Given the description of an element on the screen output the (x, y) to click on. 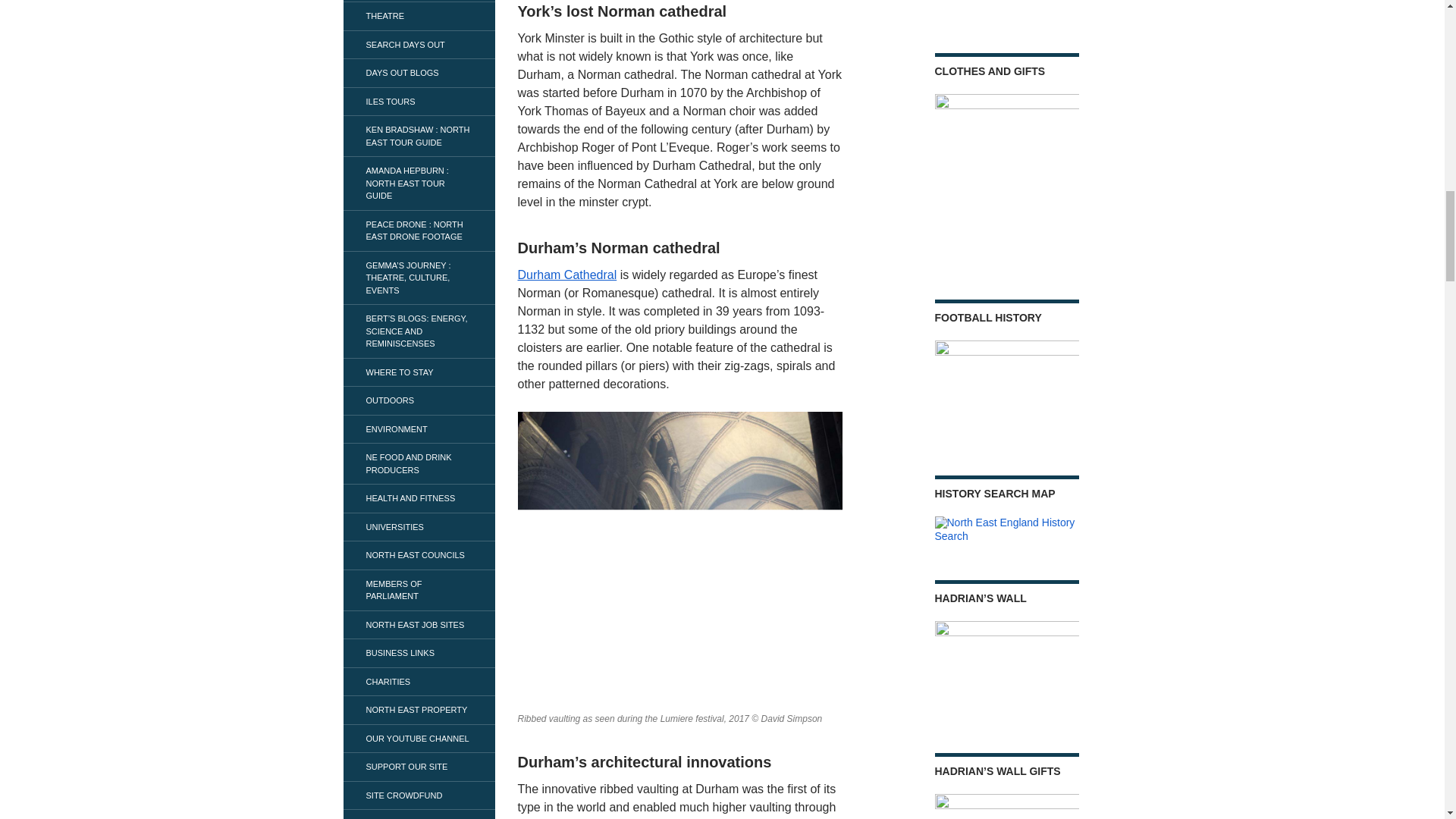
North East Castles and Bastles map (1006, 8)
